Given the description of an element on the screen output the (x, y) to click on. 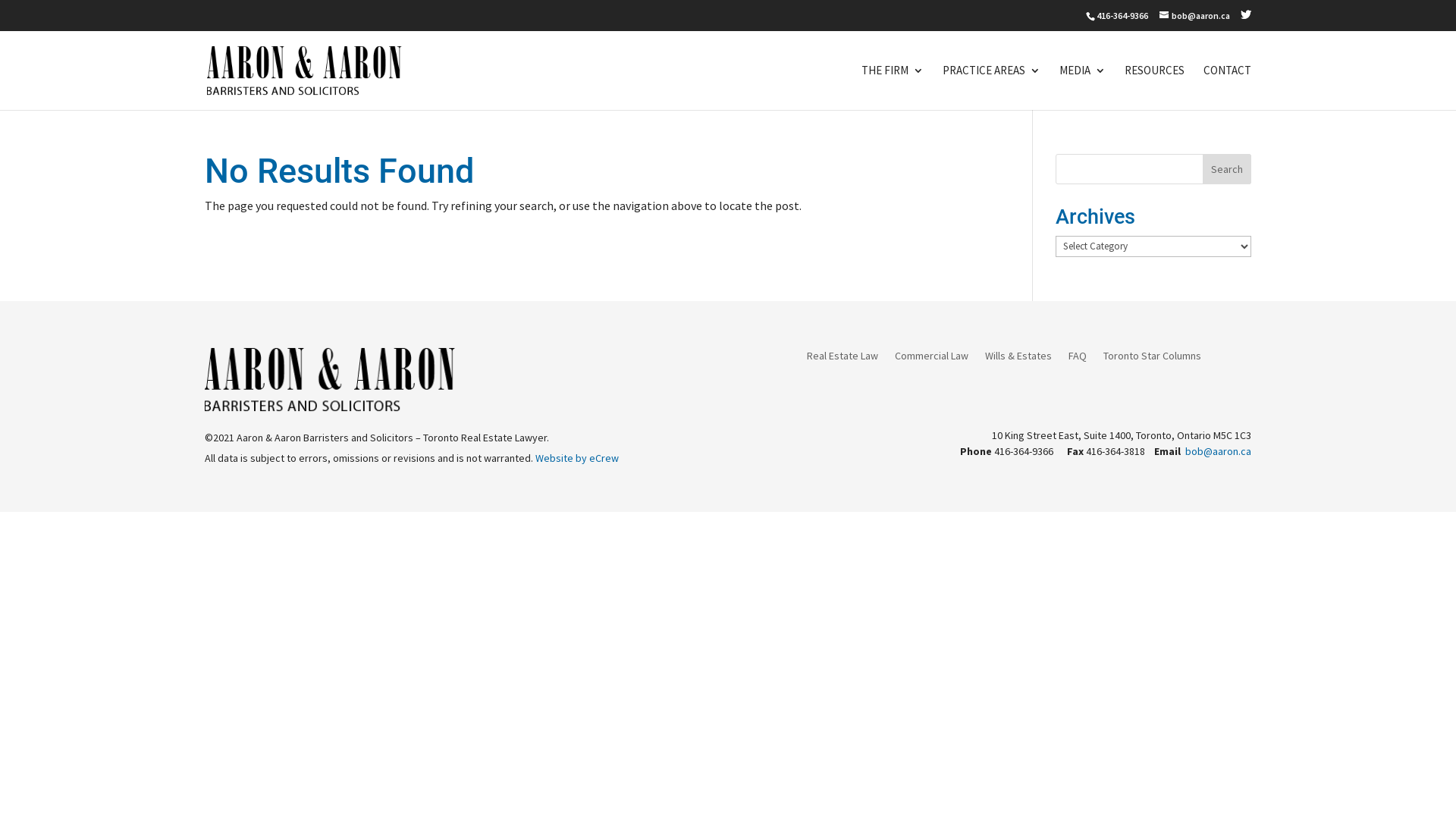
Commercial Law Element type: text (931, 358)
Wills & Estates Element type: text (1018, 358)
bob@aaron.ca Element type: text (1218, 451)
RESOURCES Element type: text (1154, 87)
THE FIRM Element type: text (892, 87)
bob@aaron.ca Element type: text (1194, 15)
Search Element type: text (1226, 168)
MEDIA Element type: text (1082, 87)
logo-blk Element type: hover (330, 379)
CONTACT Element type: text (1227, 87)
Website by eCrew Element type: text (576, 457)
Toronto Star Columns Element type: text (1152, 358)
FAQ Element type: text (1077, 358)
Real Estate Law Element type: text (842, 358)
PRACTICE AREAS Element type: text (991, 87)
